Given the description of an element on the screen output the (x, y) to click on. 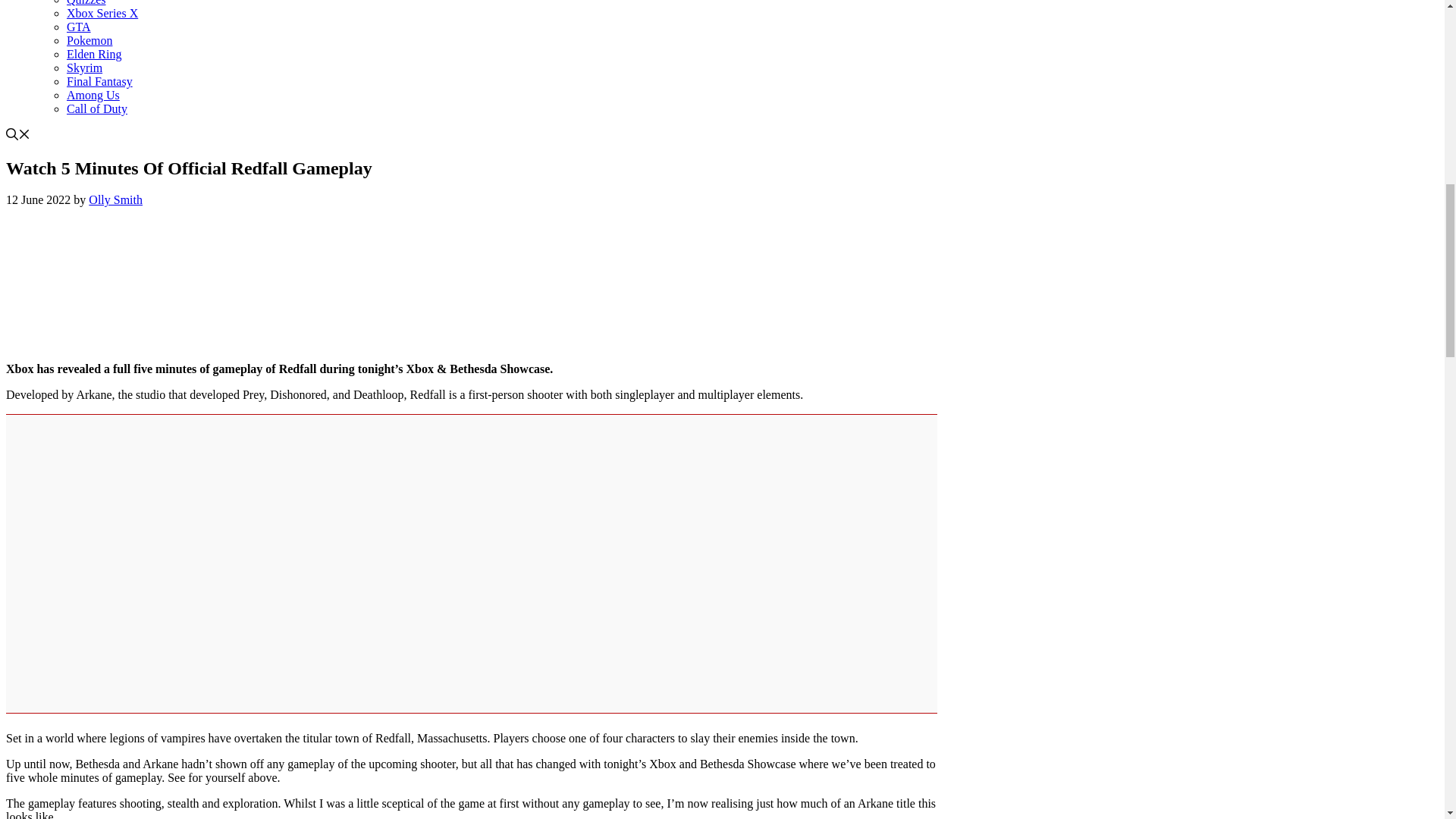
View all posts by Olly Smith (115, 199)
